Given the description of an element on the screen output the (x, y) to click on. 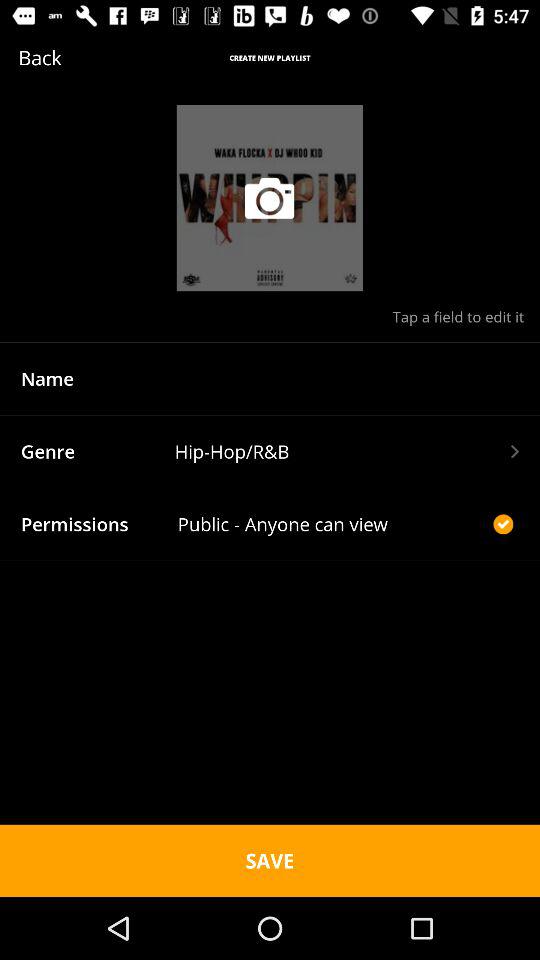
turn on the icon to the right of genre (346, 451)
